Given the description of an element on the screen output the (x, y) to click on. 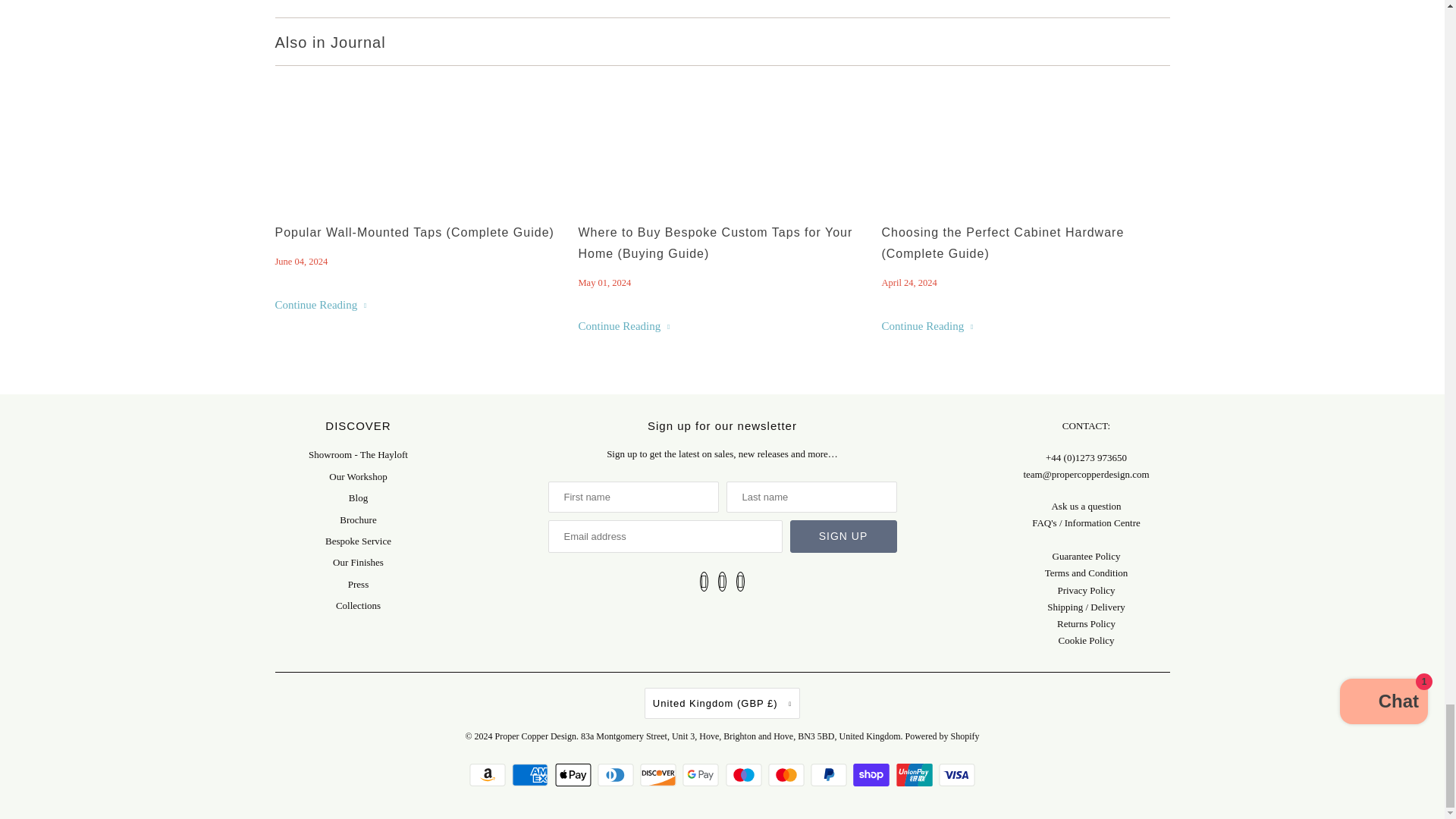
Google Pay (702, 774)
PayPal (830, 774)
Maestro (745, 774)
Mastercard (788, 774)
Visa (957, 774)
Shop Pay (873, 774)
Union Pay (916, 774)
Sign Up (843, 536)
Diners Club (616, 774)
Amazon (488, 774)
American Express (531, 774)
Discover (659, 774)
Apple Pay (574, 774)
